Given the description of an element on the screen output the (x, y) to click on. 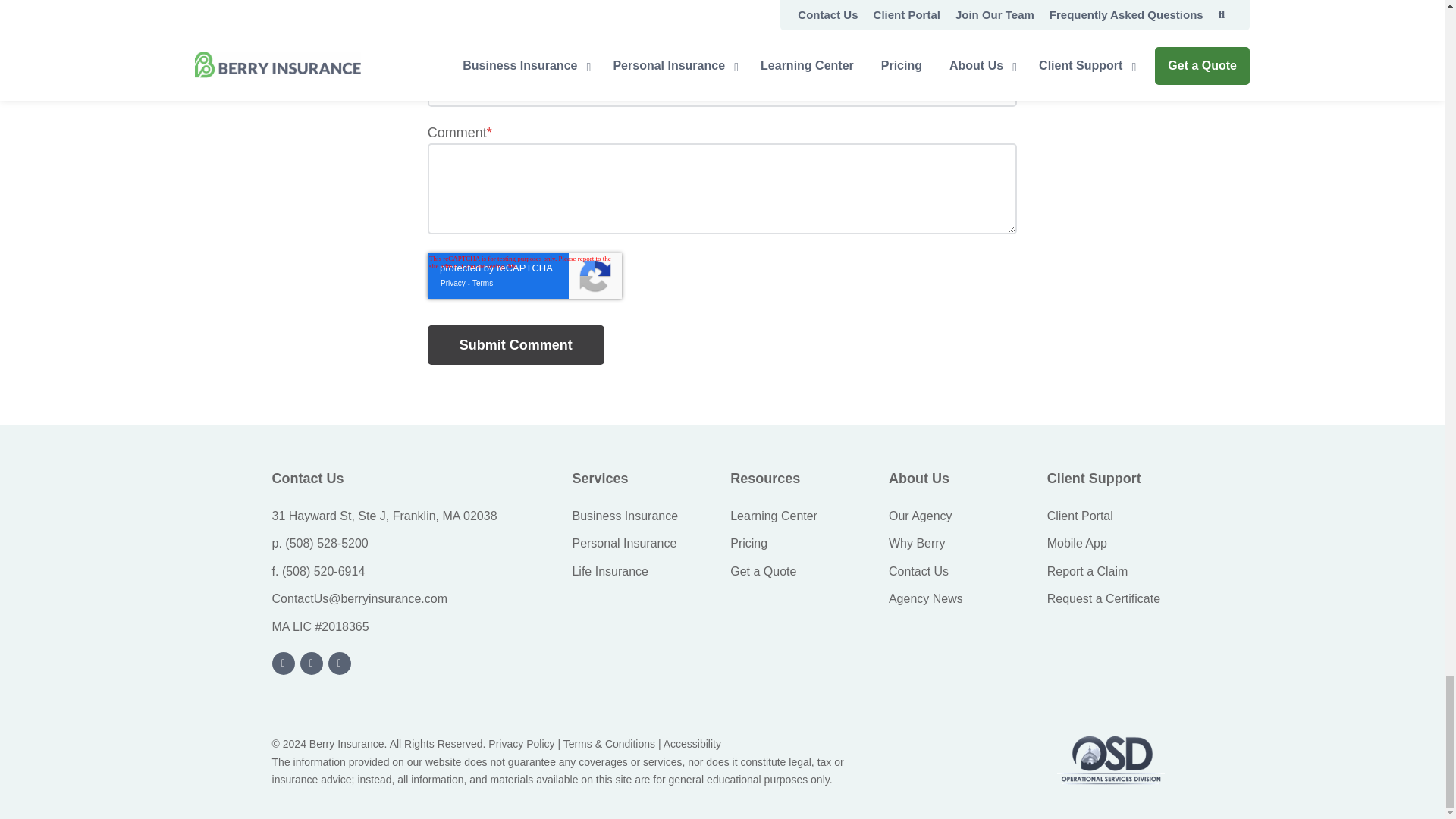
Berry Insurance Fax Number (323, 571)
Berry Insurance Phone Number (326, 543)
reCAPTCHA (524, 275)
Facebook (339, 662)
Berry Insurance Email (359, 598)
LinkedIn (283, 662)
Submit Comment (516, 344)
YouTube (311, 662)
